Given the description of an element on the screen output the (x, y) to click on. 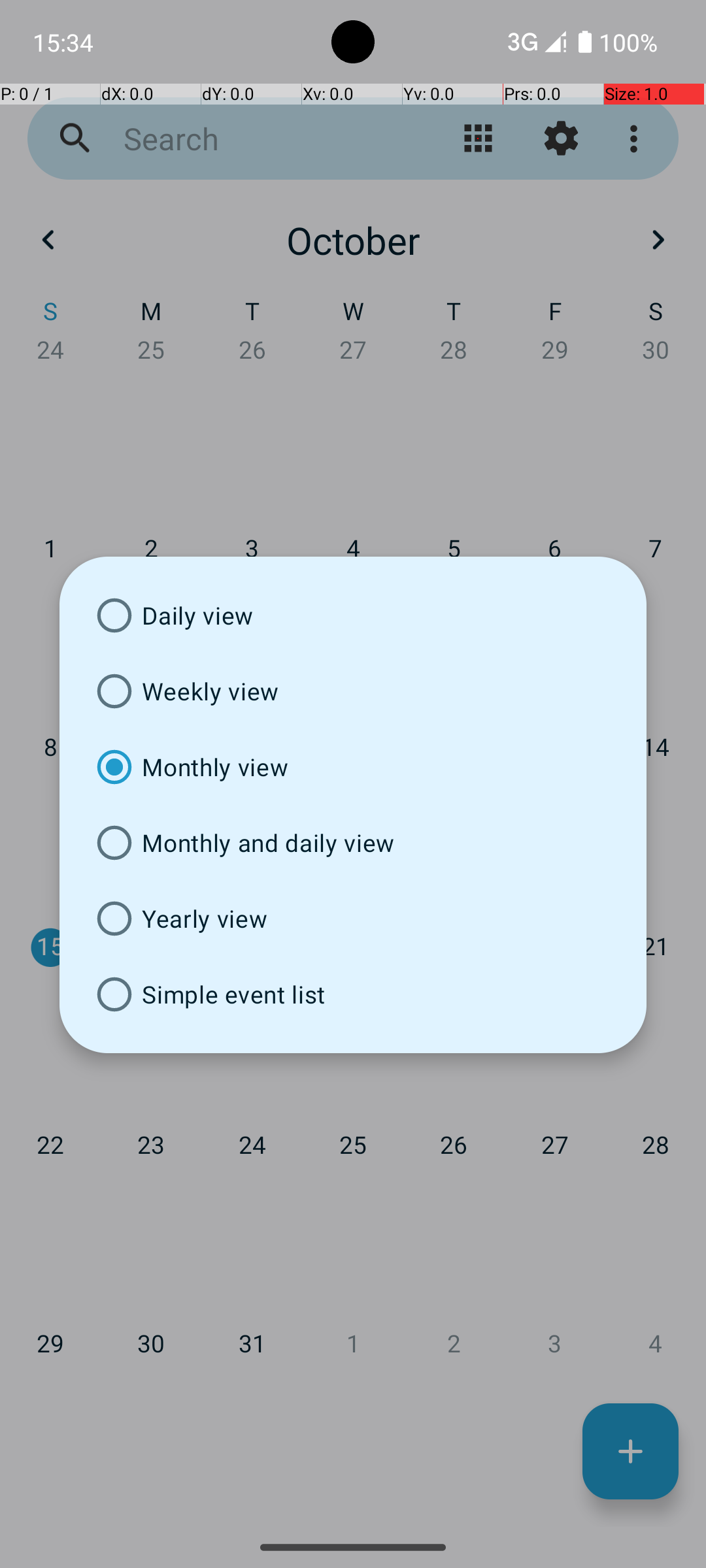
Daily view Element type: android.widget.RadioButton (352, 615)
Weekly view Element type: android.widget.RadioButton (352, 691)
Monthly view Element type: android.widget.RadioButton (352, 766)
Monthly and daily view Element type: android.widget.RadioButton (352, 842)
Yearly view Element type: android.widget.RadioButton (352, 918)
Simple event list Element type: android.widget.RadioButton (352, 994)
